Given the description of an element on the screen output the (x, y) to click on. 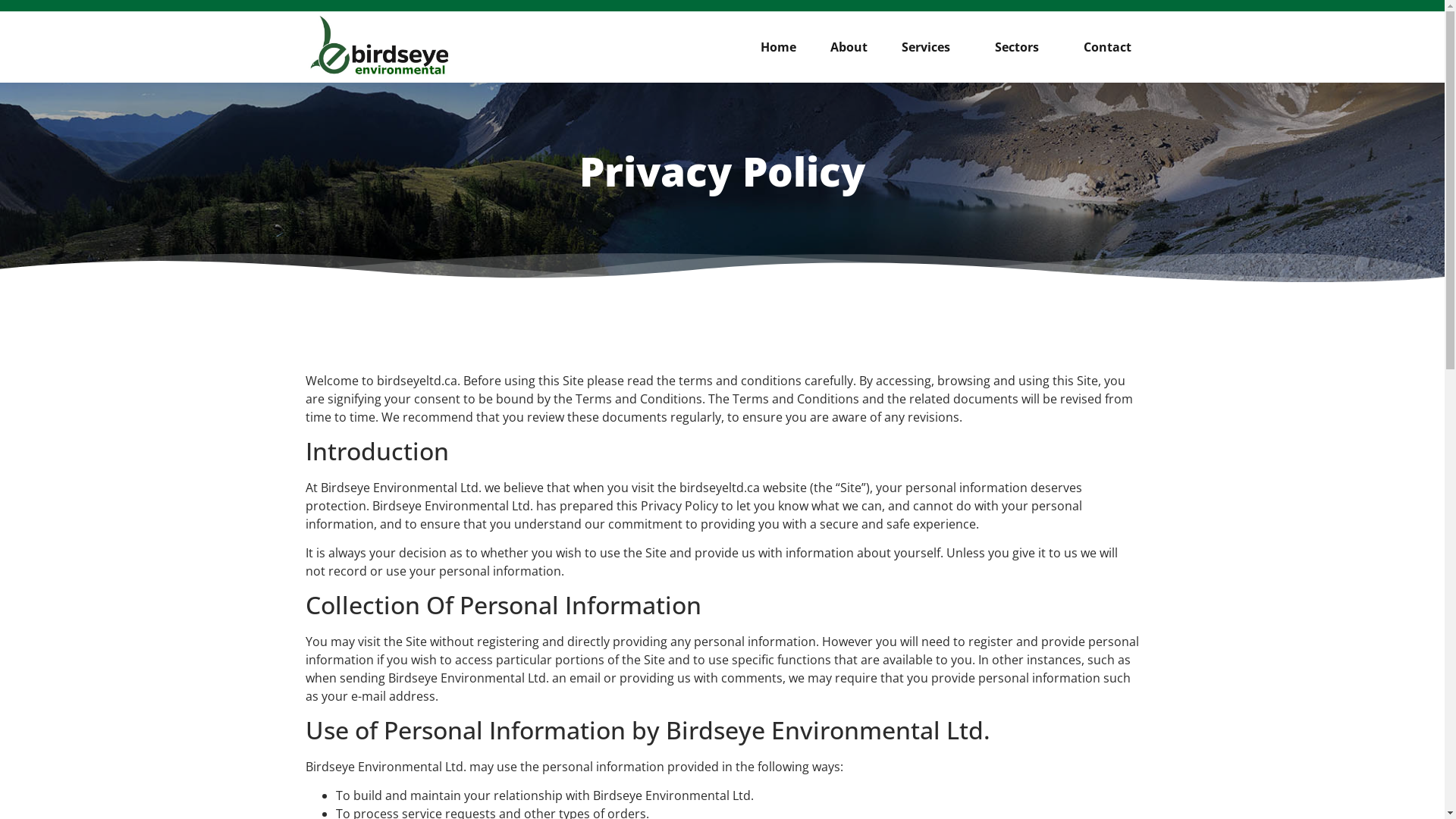
About Element type: text (848, 46)
Contact Element type: text (1107, 46)
Services Element type: text (930, 46)
Home Element type: text (778, 46)
Sectors Element type: text (1021, 46)
